Given the description of an element on the screen output the (x, y) to click on. 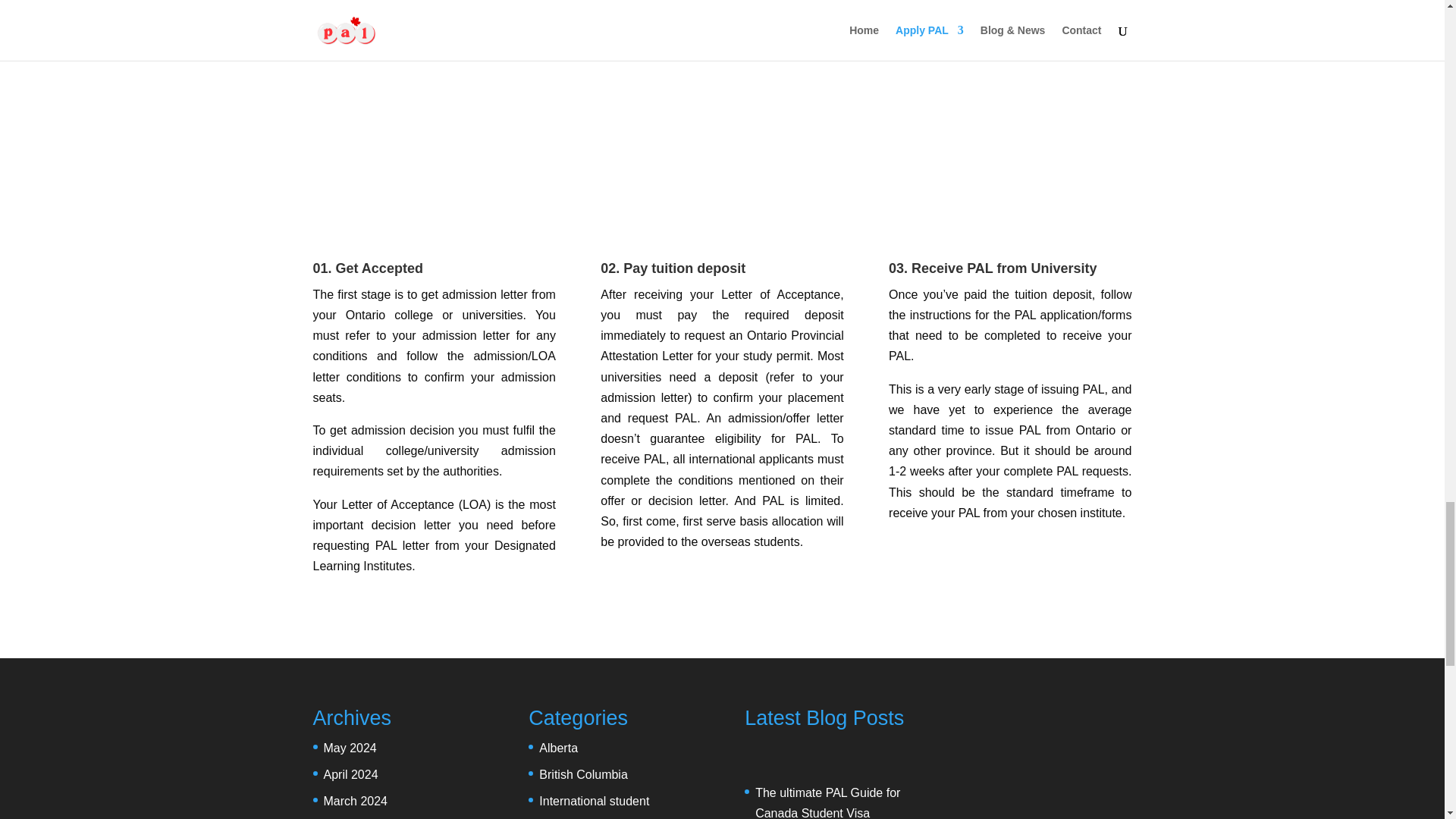
British Columbia (582, 774)
May 2024 (349, 748)
April 2024 (350, 774)
Alberta (558, 748)
International student (593, 800)
The ultimate PAL Guide for Canada Student Visa (827, 802)
March 2024 (355, 800)
